Given the description of an element on the screen output the (x, y) to click on. 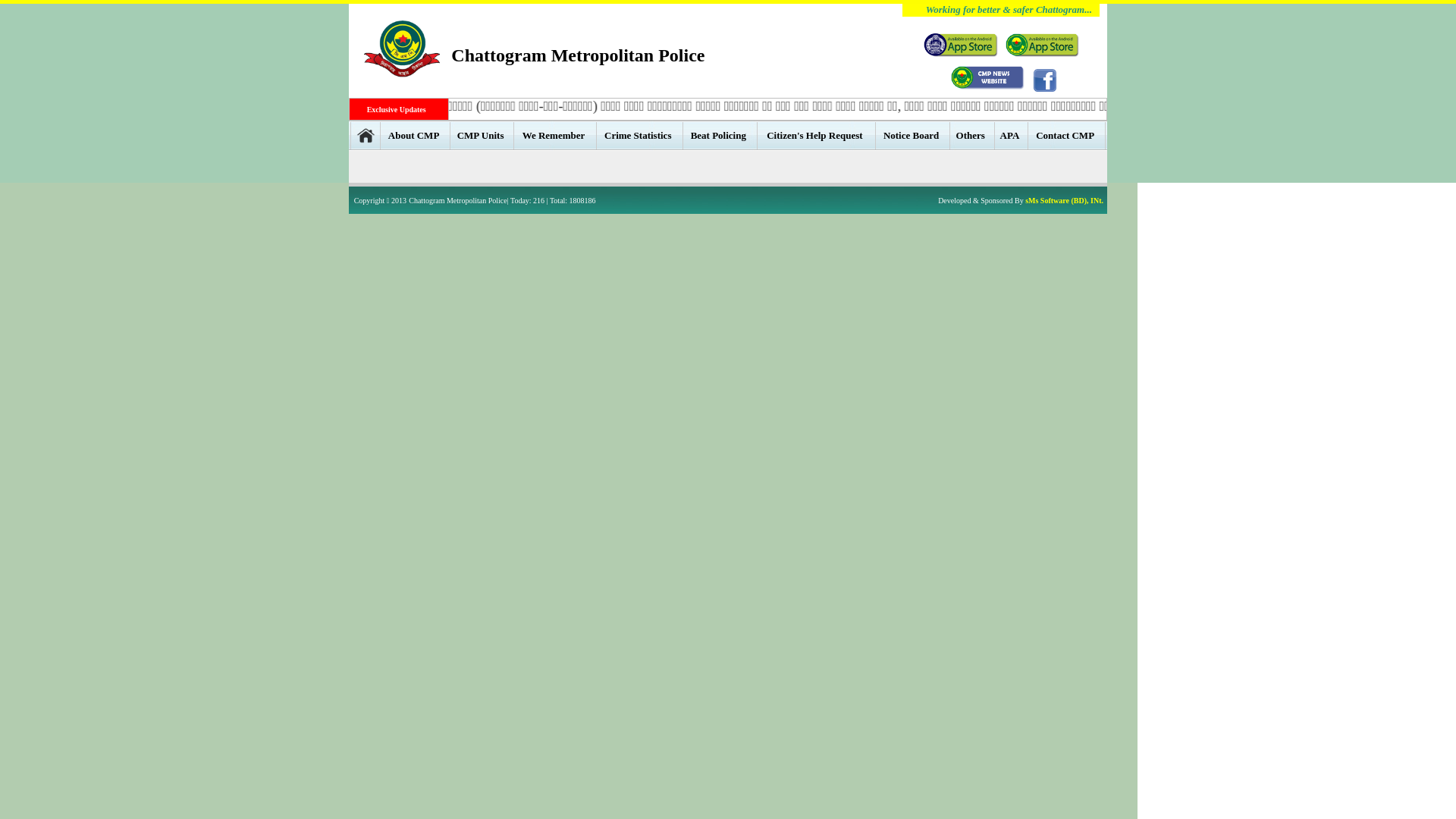
Notice Board Element type: text (912, 134)
CMP Units Element type: text (482, 134)
We Remember Element type: text (555, 134)
APA Element type: text (1011, 134)
Citizen's Help Request Element type: text (815, 134)
Others Element type: text (971, 134)
Beat Policing Element type: text (719, 134)
About CMP Element type: text (415, 134)
Contact CMP Element type: text (1066, 134)
Crime Statistics Element type: text (639, 134)
Chattogram Metropolitan Police| Today: 216 | Total: 1808186 Element type: text (501, 199)
sMs Software (BD), INt. Element type: text (1064, 200)
